Given the description of an element on the screen output the (x, y) to click on. 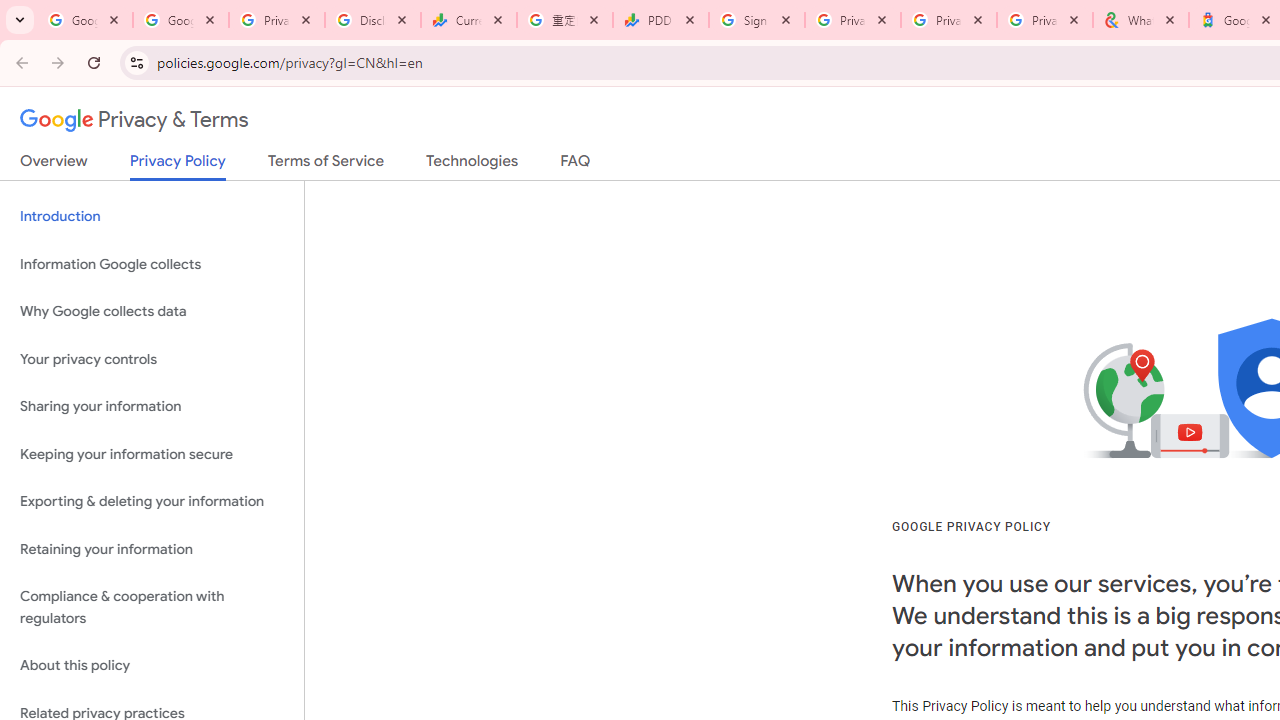
PDD Holdings Inc - ADR (PDD) Price & News - Google Finance (661, 20)
Privacy Checkup (949, 20)
